Given the description of an element on the screen output the (x, y) to click on. 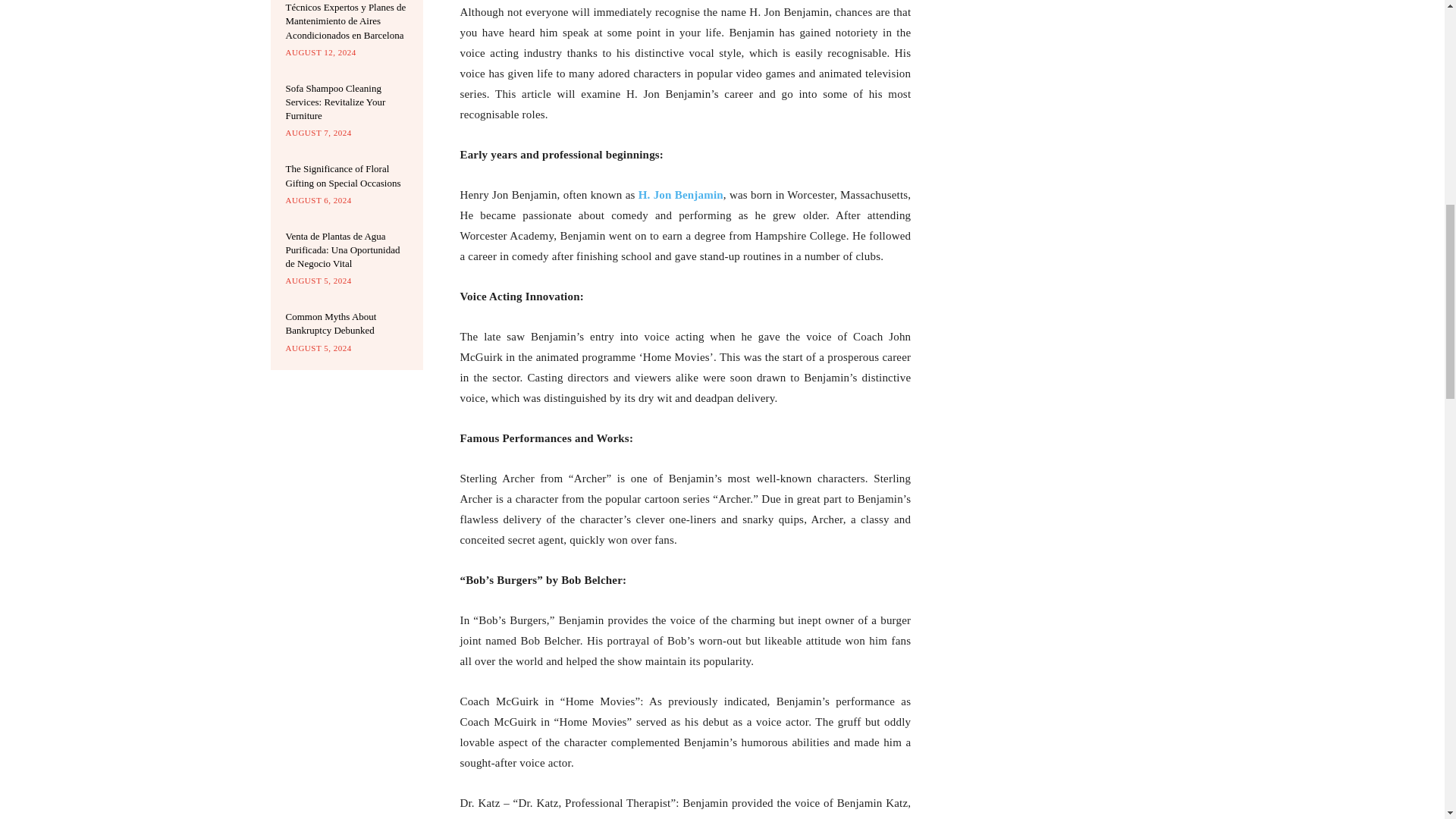
Sofa Shampoo Cleaning Services: Revitalize Your Furniture (335, 101)
Common Myths About Bankruptcy Debunked (330, 323)
The Significance of Floral Gifting on Special Occasions (342, 175)
